Given the description of an element on the screen output the (x, y) to click on. 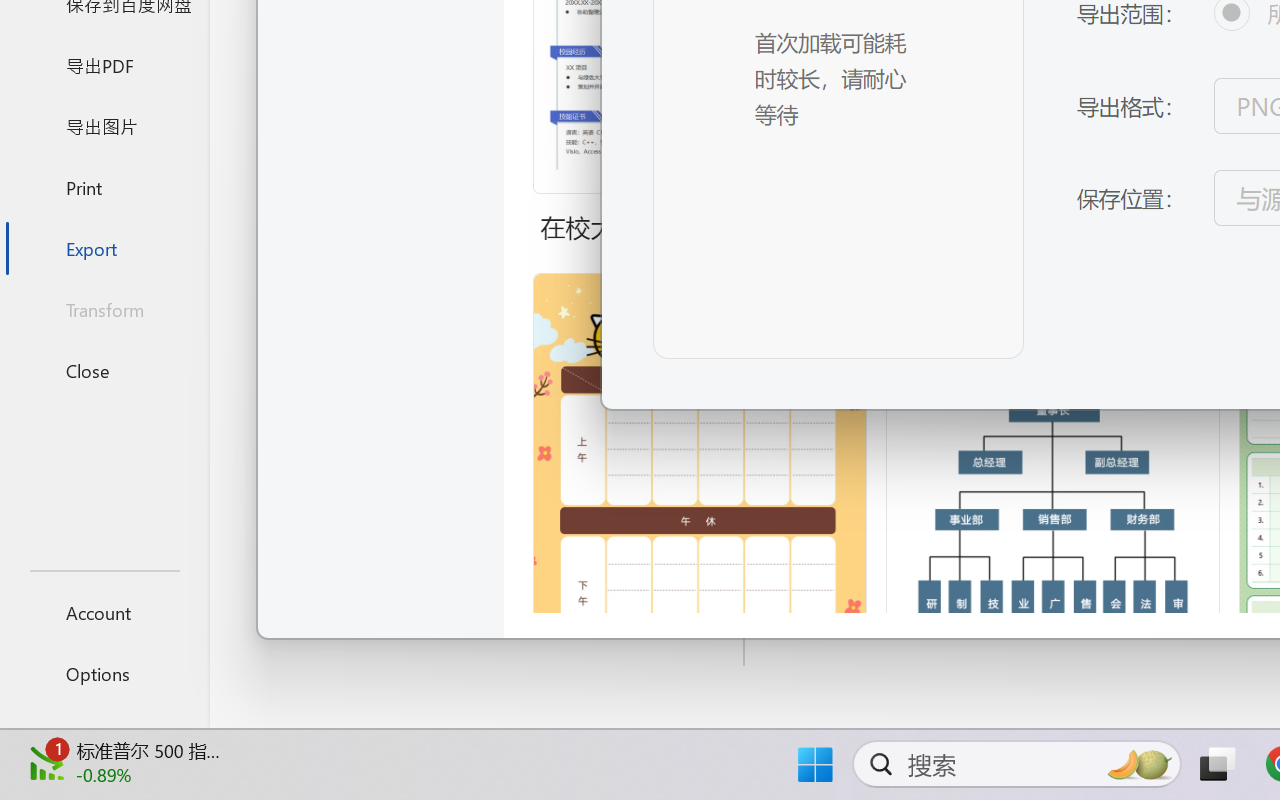
Export (104, 248)
